Given the description of an element on the screen output the (x, y) to click on. 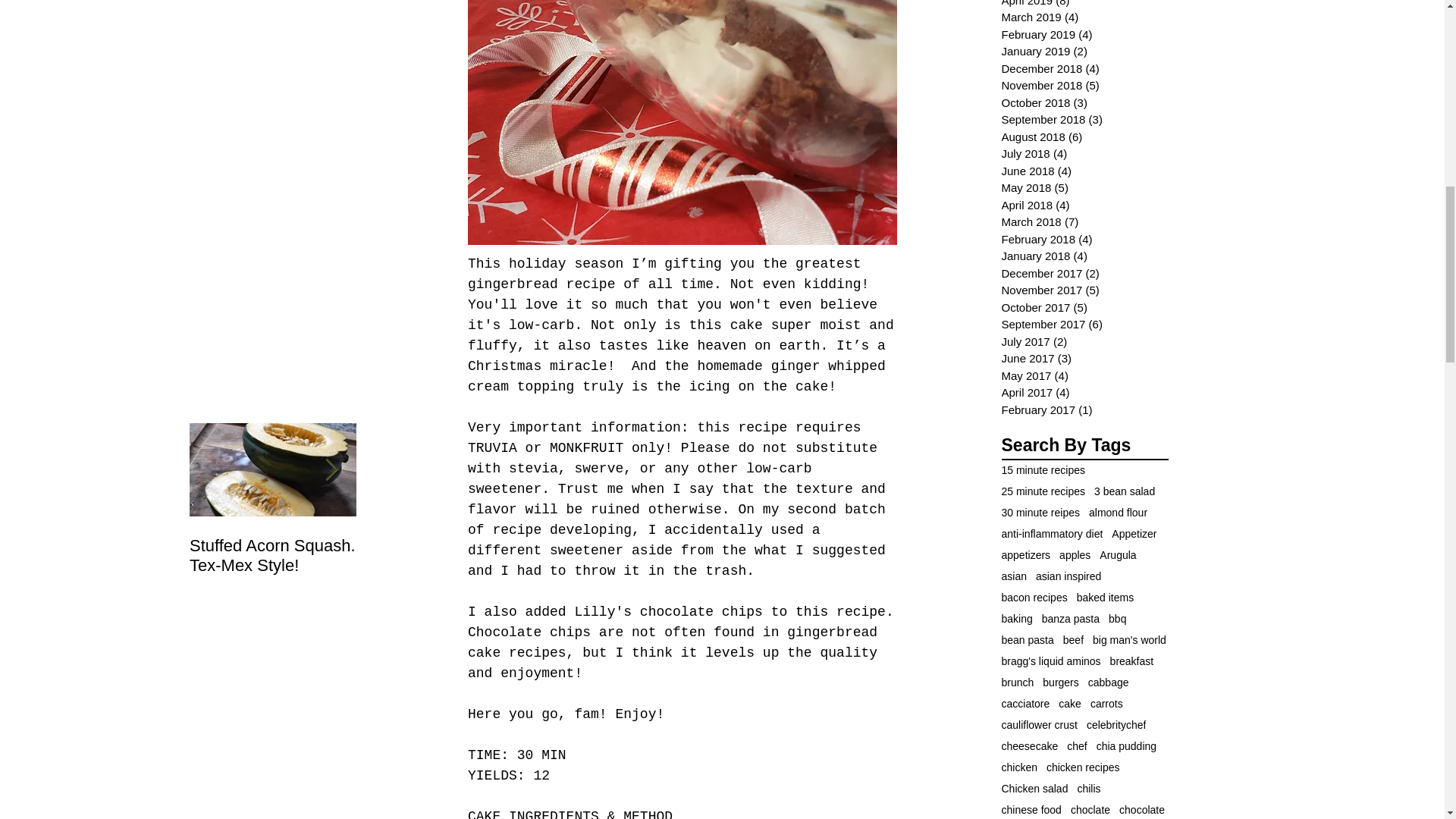
Stuffed Acorn Squash. Tex-Mex Style! (272, 555)
